Given the description of an element on the screen output the (x, y) to click on. 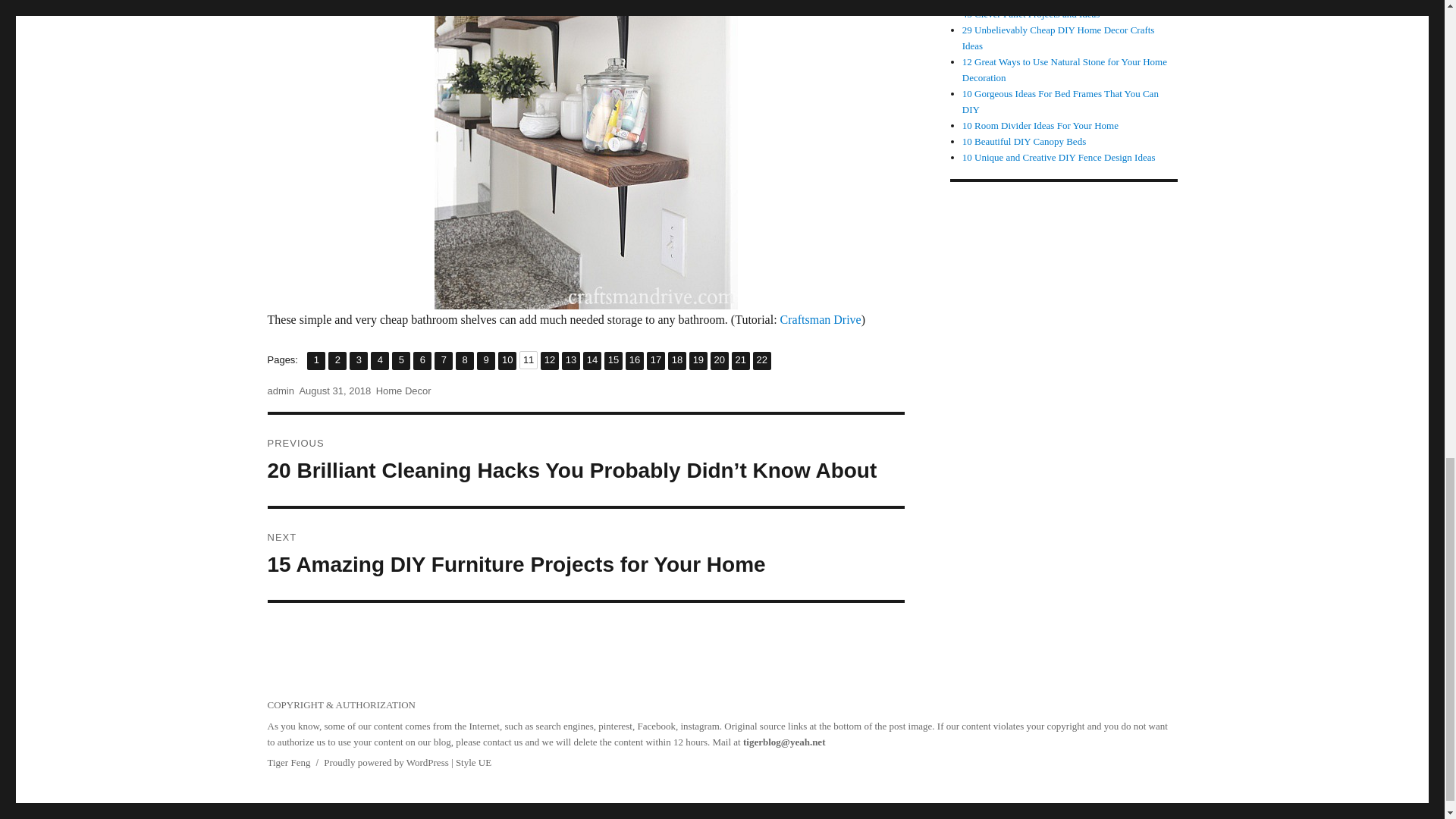
10 Beautiful DIY Canopy Beds (421, 361)
45 Clever Pallet Projects and Ideas (634, 361)
29 Unbelievably Cheap DIY Home Decor Crafts Ideas (1024, 141)
12 Great Ways to Use Natural Stone for Your Home Decoration (400, 361)
